Given the description of an element on the screen output the (x, y) to click on. 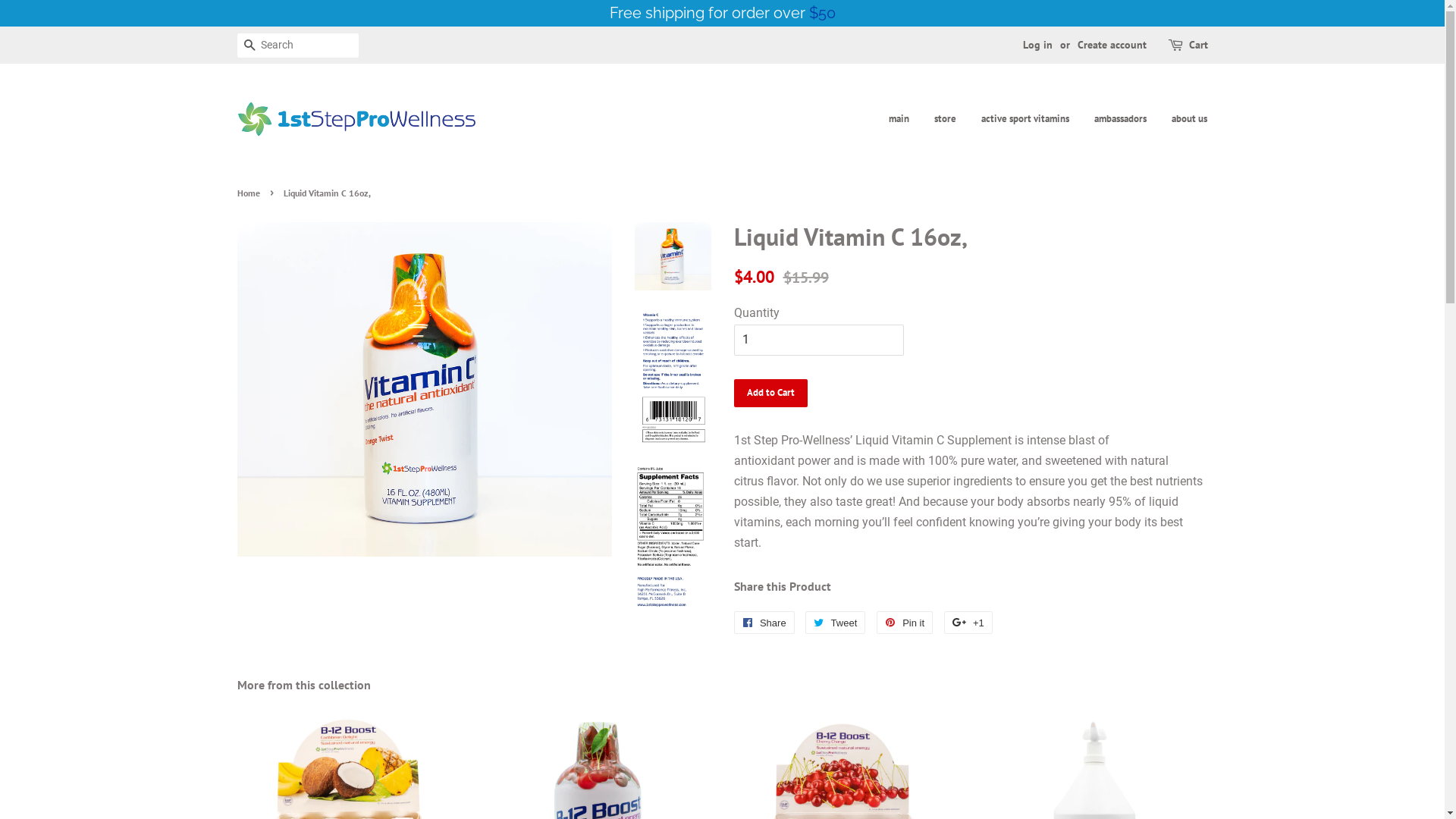
Add to Cart Element type: text (770, 392)
+1
+1 on Google Plus Element type: text (968, 622)
active sport vitamins Element type: text (1024, 118)
store Element type: text (944, 118)
about us Element type: text (1183, 118)
ambassadors Element type: text (1119, 118)
Tweet
Tweet on Twitter Element type: text (835, 622)
Home Element type: text (249, 192)
Share
Share on Facebook Element type: text (764, 622)
Create account Element type: text (1110, 44)
main Element type: text (904, 118)
Pin it
Pin on Pinterest Element type: text (904, 622)
Log in Element type: text (1036, 44)
Cart Element type: text (1198, 45)
Search Element type: text (248, 45)
